Given the description of an element on the screen output the (x, y) to click on. 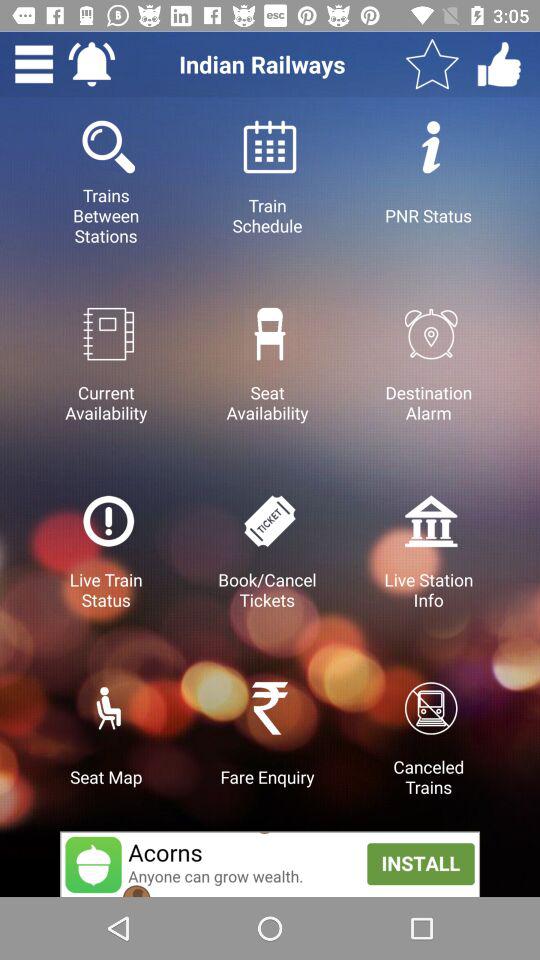
go to like (499, 64)
